Given the description of an element on the screen output the (x, y) to click on. 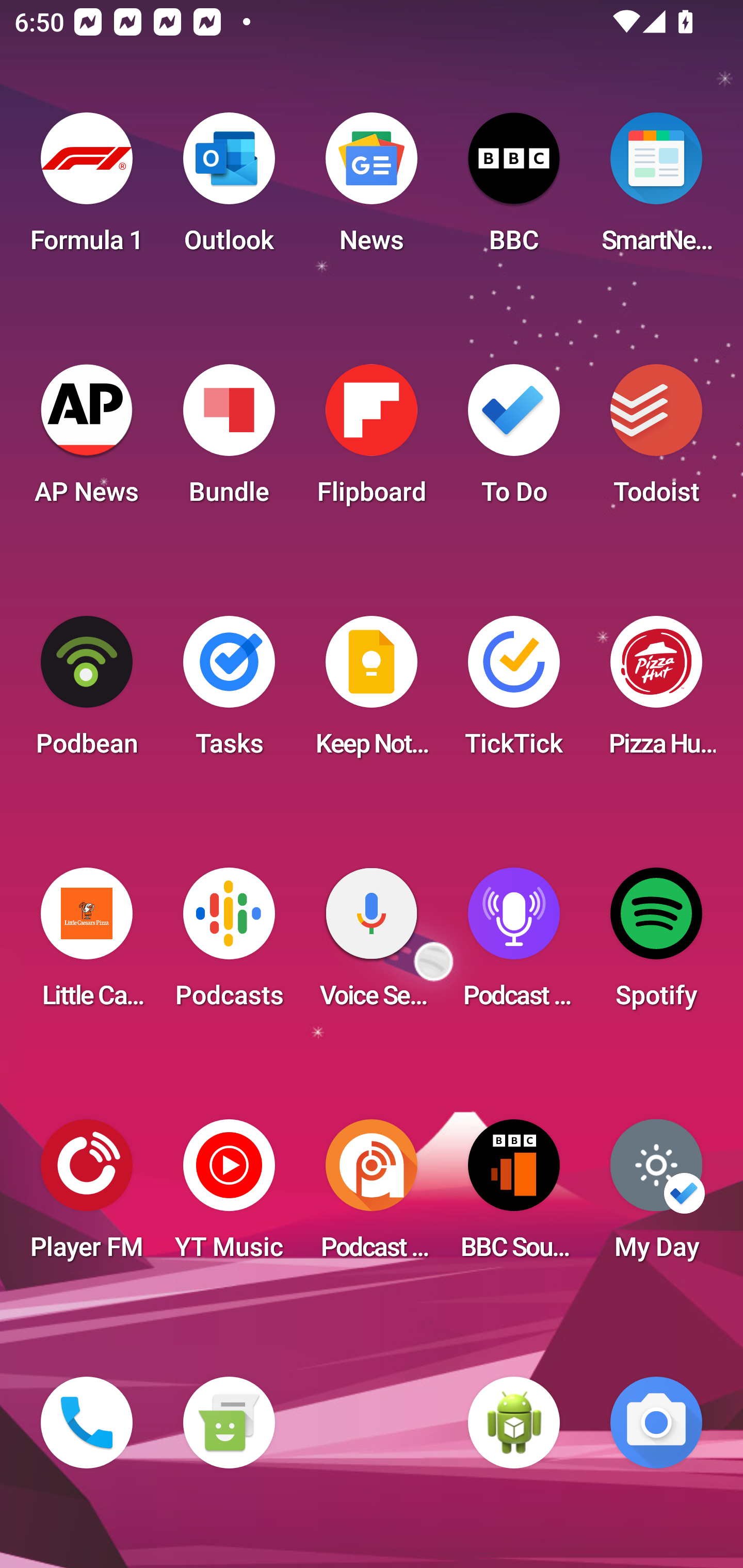
Formula 1 (86, 188)
Outlook (228, 188)
News (371, 188)
BBC (513, 188)
SmartNews (656, 188)
AP News (86, 440)
Bundle (228, 440)
Flipboard (371, 440)
To Do (513, 440)
Todoist (656, 440)
Podbean (86, 692)
Tasks (228, 692)
Keep Notes (371, 692)
TickTick (513, 692)
Pizza Hut HK & Macau (656, 692)
Little Caesars Pizza (86, 943)
Podcasts (228, 943)
Voice Search (371, 943)
Podcast Player (513, 943)
Spotify (656, 943)
Player FM (86, 1195)
YT Music (228, 1195)
Podcast Addict (371, 1195)
BBC Sounds (513, 1195)
My Day (656, 1195)
Phone (86, 1422)
Messaging (228, 1422)
WebView Browser Tester (513, 1422)
Camera (656, 1422)
